Given the description of an element on the screen output the (x, y) to click on. 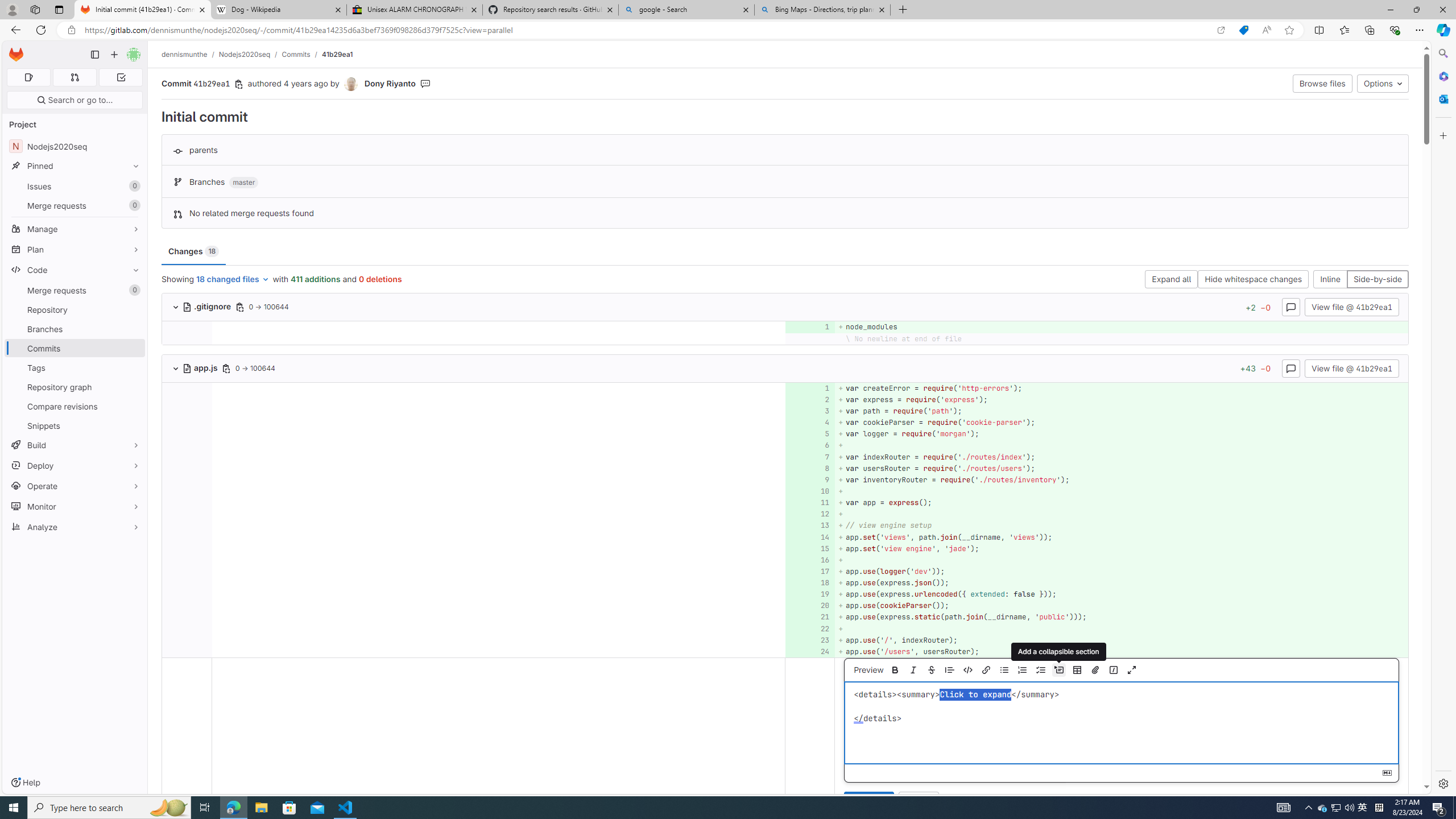
Add a comment to this line (806, 651)
Comment (868, 800)
Class: s12 (806, 650)
Create new... (113, 54)
16 (808, 559)
Preview (868, 670)
Add a comment to this line 4 (809, 422)
+ app.set('views', path.join(__dirname, 'views'));  (1120, 536)
To-Do list 0 (120, 76)
Build (74, 444)
Snippets (74, 425)
Monitor (74, 506)
